Given the description of an element on the screen output the (x, y) to click on. 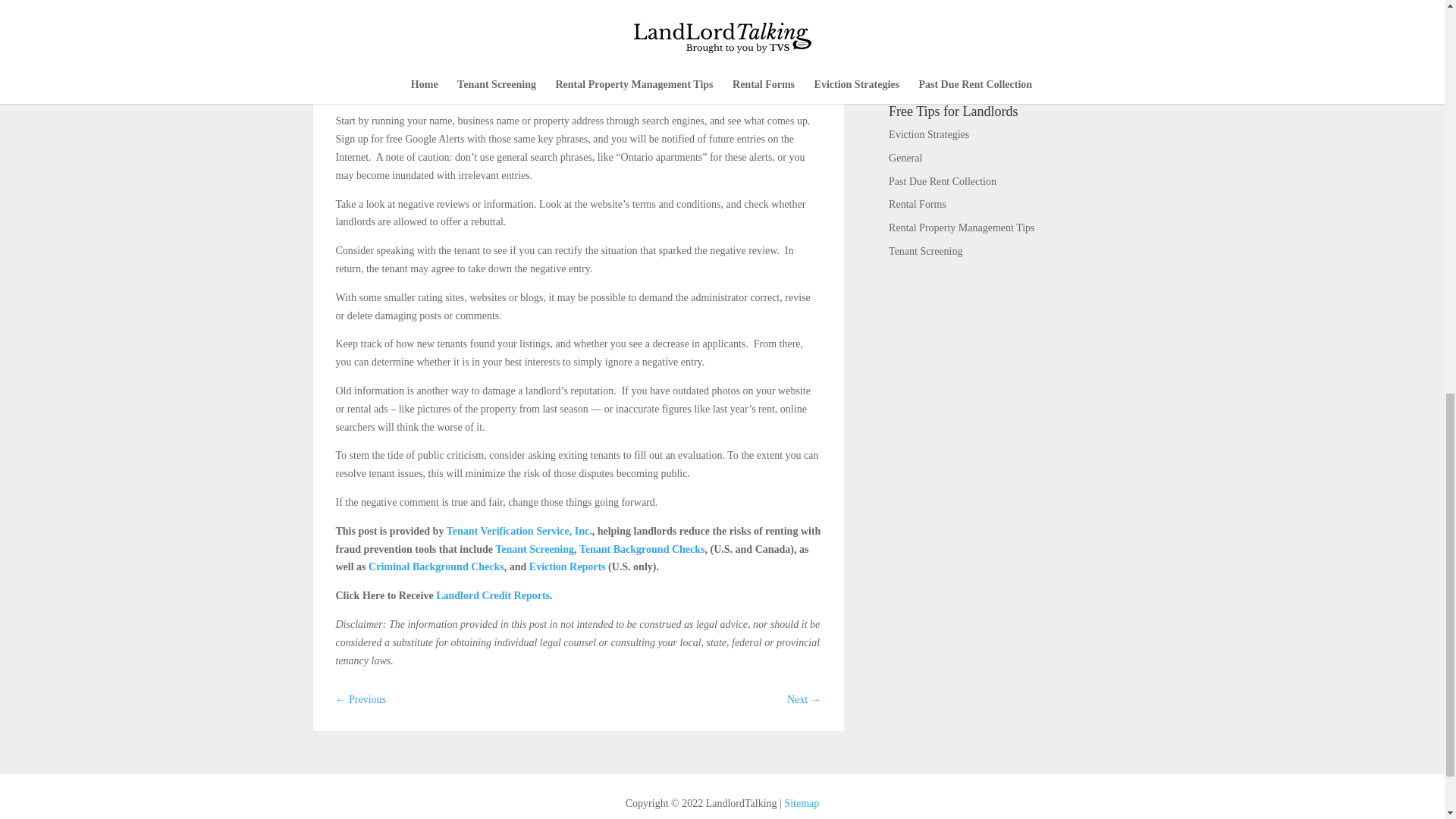
Criminal Background Checks (435, 566)
Eviction Reports (567, 566)
Rental Property Management Tips (961, 227)
Tenant Background Checks (641, 549)
Screening for Canada (1010, 5)
Tenant Verification Service, Inc. (519, 531)
Canada (1010, 5)
Past Due Rent Collection (941, 181)
Tenant Screening (534, 549)
Sitemap (801, 803)
Eviction Strategies (928, 134)
Rental Forms (917, 204)
Sitemap (801, 803)
Landlord Credit Reports (492, 595)
General (904, 157)
